Given the description of an element on the screen output the (x, y) to click on. 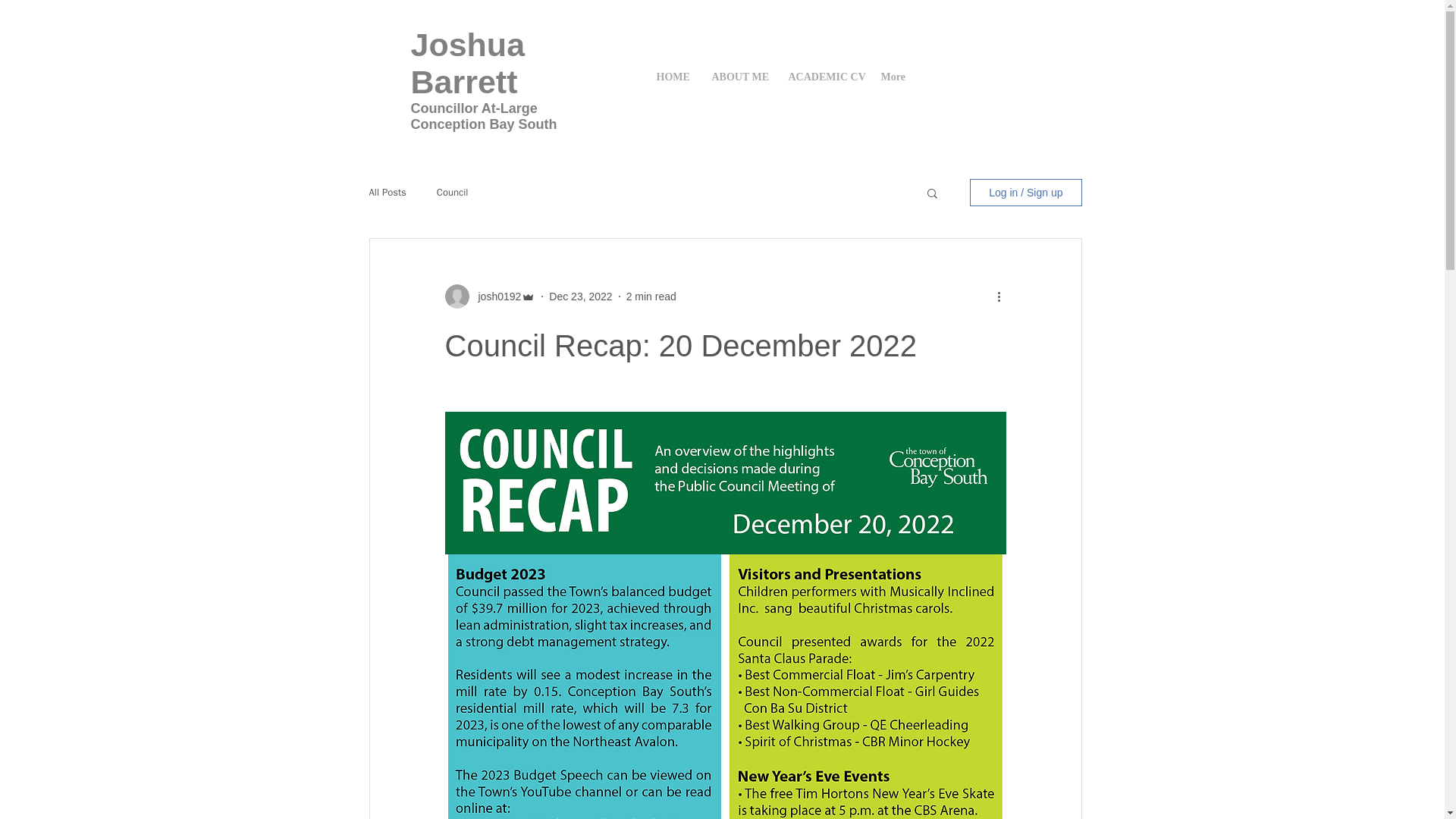
2 min read (651, 295)
HOME (672, 76)
ACADEMIC CV (822, 76)
Dec 23, 2022 (579, 295)
Councillor At-Large (473, 108)
All Posts (387, 192)
Joshua Barrett (467, 62)
josh0192 (494, 295)
ABOUT ME (738, 76)
Council (452, 192)
